Given the description of an element on the screen output the (x, y) to click on. 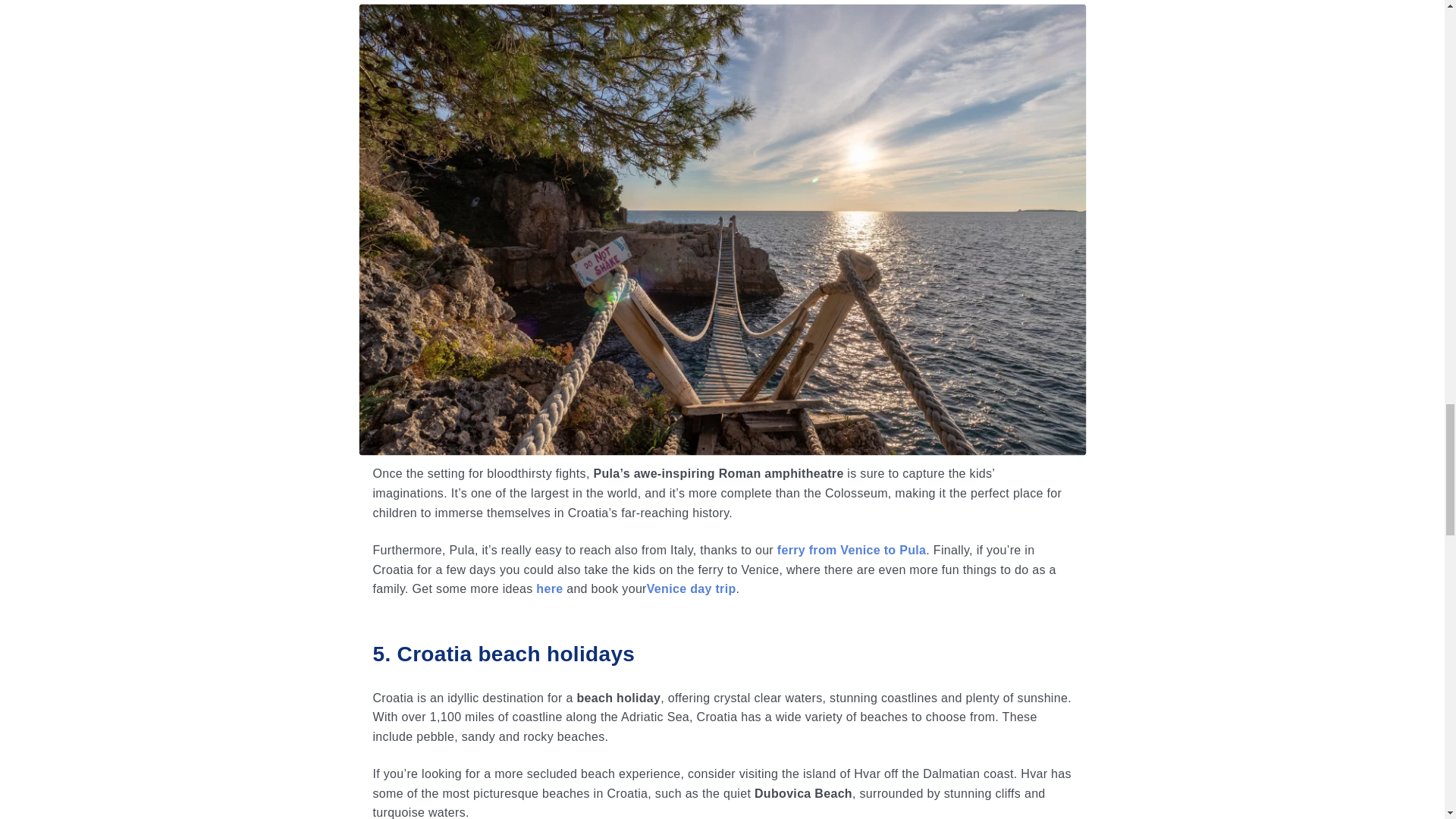
ferry from Venice to Pula (851, 549)
here (548, 588)
Venice day trip (691, 588)
